Given the description of an element on the screen output the (x, y) to click on. 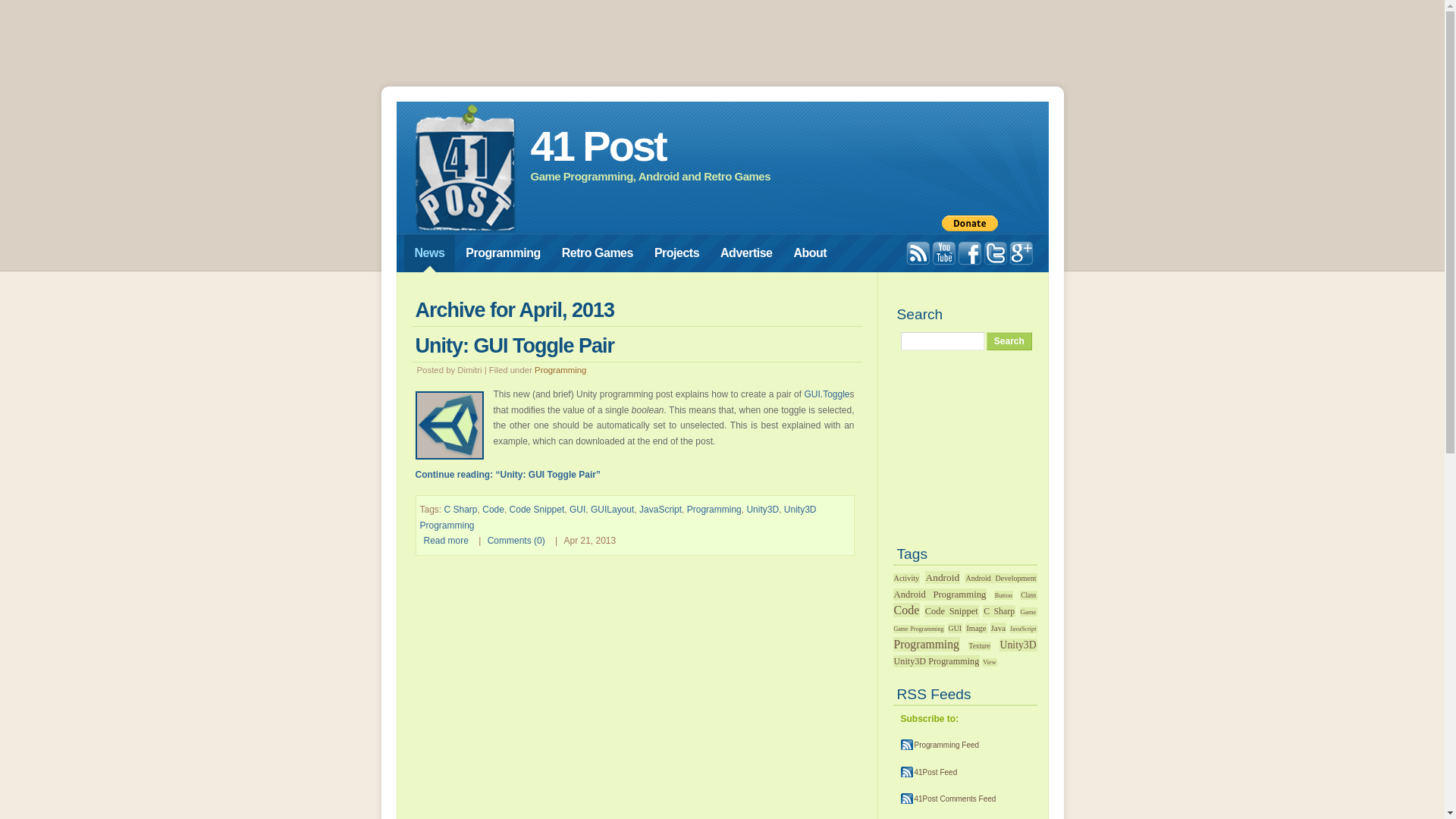
Class Element type: text (1027, 594)
Activity Element type: text (906, 578)
Programming Feed Element type: text (939, 744)
Android Programming Element type: text (940, 594)
41Post Feed Element type: text (928, 771)
Unity: GUI Toggle Pair Element type: text (515, 345)
Comments (0) Element type: text (516, 540)
Unity3D Element type: text (1018, 644)
41 Post page on Google+ Element type: hover (1020, 253)
Image Element type: text (975, 628)
Code Snippet Element type: text (536, 509)
Subscribe to the RSS Feed Element type: hover (917, 253)
GUI Element type: text (955, 628)
Advertise Element type: text (745, 253)
Projects Element type: text (676, 253)
41 Post on Facebook Element type: hover (969, 253)
Unity3D Programming Element type: text (936, 661)
Subscribe to 41 Post on YouTube Element type: hover (943, 253)
Programming Element type: text (926, 644)
Unity: GUI Toggle Pair Element type: hover (449, 456)
Code Snippet Element type: text (951, 611)
JavaScript Element type: text (660, 509)
News Element type: text (429, 253)
Unity3D Programming Element type: text (618, 517)
Code Element type: text (493, 509)
Advertisement Element type: hover (721, 44)
41 Post Element type: text (597, 145)
Code Element type: text (906, 609)
Game Programming Element type: text (918, 628)
View Element type: text (989, 662)
Game Element type: text (1028, 611)
About Element type: text (809, 253)
GUILayout Element type: text (611, 509)
Click to continue reading Unity: GUI Toggle Pair Element type: hover (449, 425)
C Sharp Element type: text (998, 611)
Follow 41 Post on Twitter Element type: hover (994, 253)
JavaScript Element type: text (1022, 628)
GUI Element type: text (577, 509)
Advertisement Element type: hover (964, 450)
Retro Games Element type: text (597, 253)
Programming Element type: text (503, 253)
Java Element type: text (998, 627)
Android Development Element type: text (1000, 578)
Programming Element type: text (560, 369)
Read more Element type: text (445, 540)
Programming Element type: text (714, 509)
GUI.Toggle Element type: text (826, 394)
Button Element type: text (1003, 594)
Search Element type: text (1009, 341)
41Post Comments Feed Element type: text (948, 798)
Unity3D Element type: text (762, 509)
Texture Element type: text (979, 645)
Android Element type: text (942, 577)
C Sharp Element type: text (460, 509)
